Given the description of an element on the screen output the (x, y) to click on. 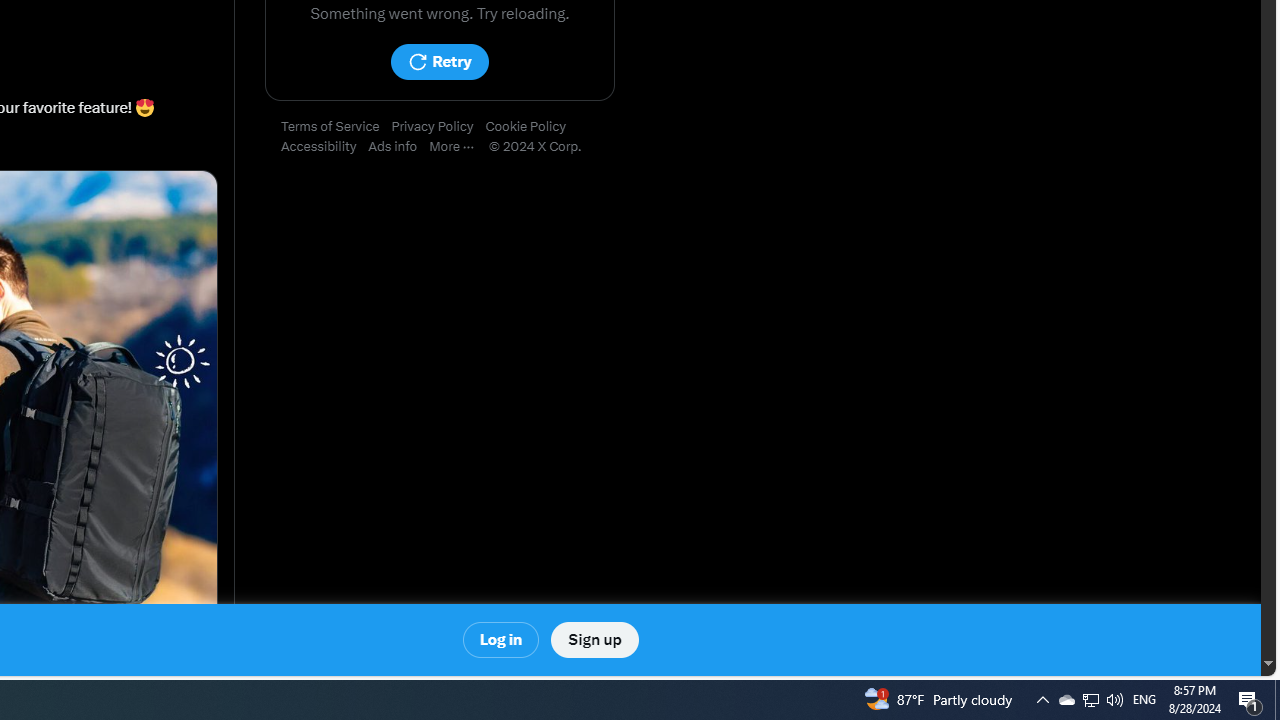
Terms of Service (336, 127)
Ads info (399, 147)
Retry (439, 61)
Privacy Policy (438, 127)
Cookie Policy (531, 127)
Accessibility (324, 147)
Log in (501, 640)
Sign up (594, 640)
